Given the description of an element on the screen output the (x, y) to click on. 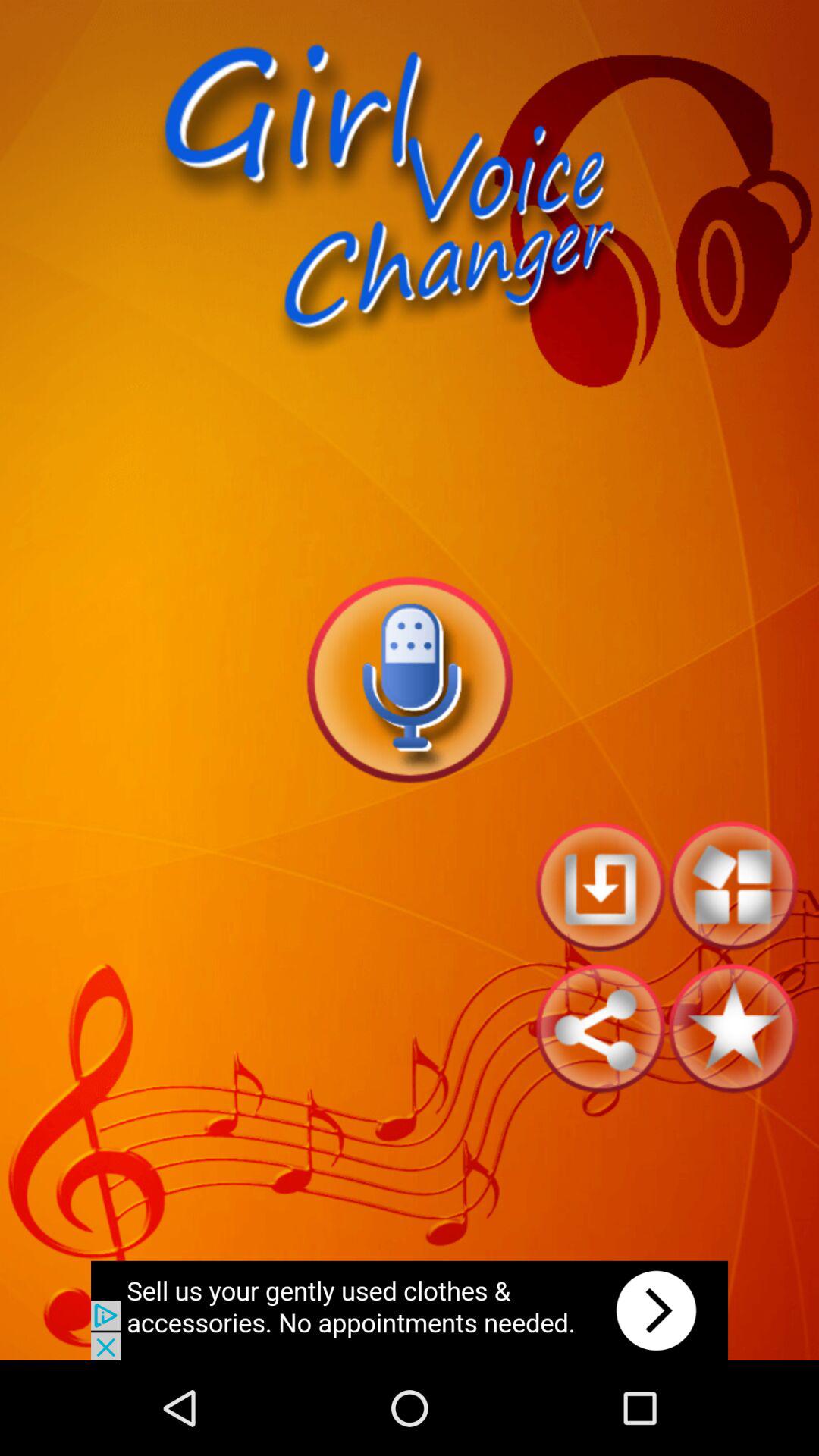
switch to share (600, 1028)
